Given the description of an element on the screen output the (x, y) to click on. 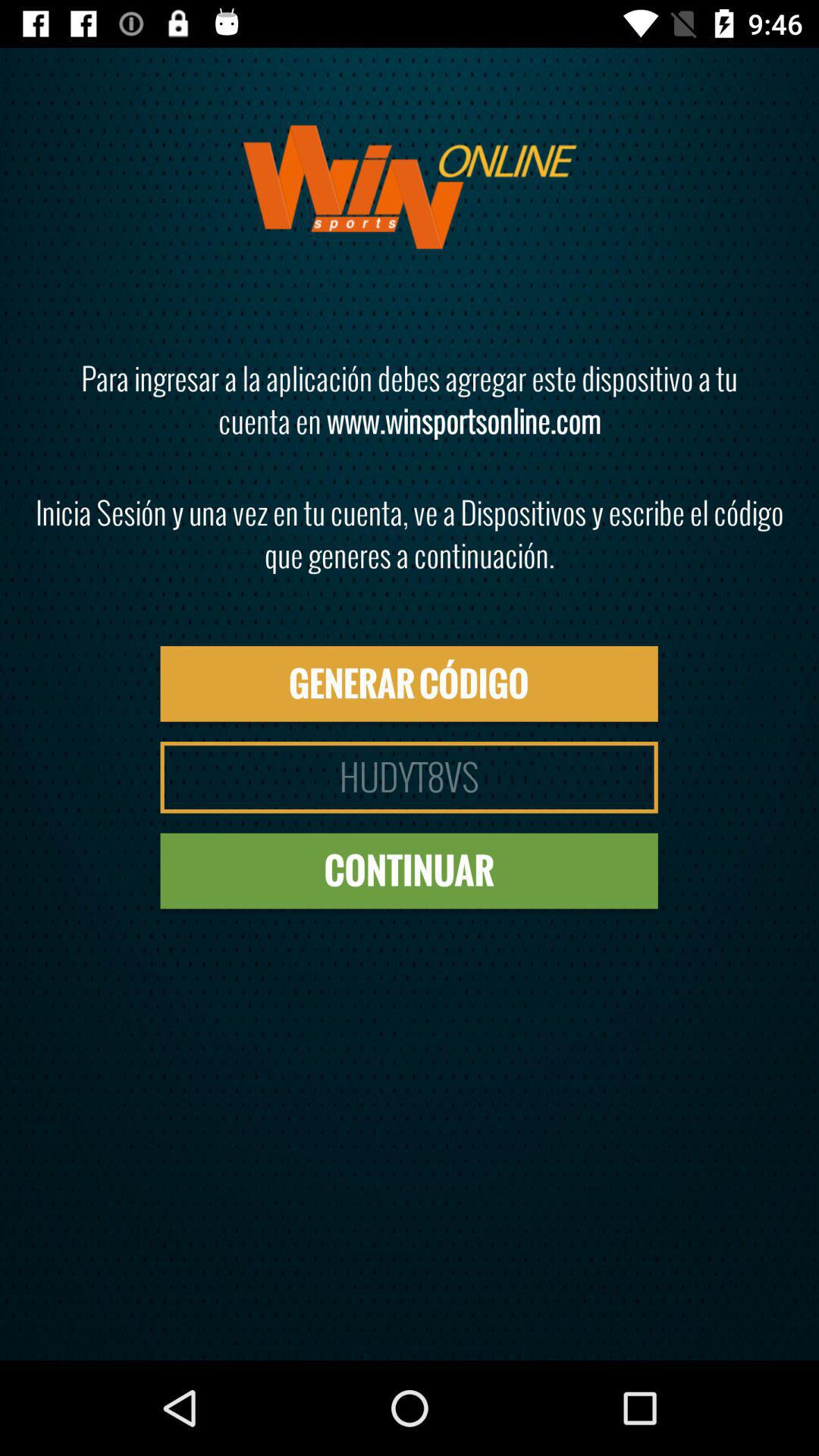
jump until continuar item (409, 870)
